Given the description of an element on the screen output the (x, y) to click on. 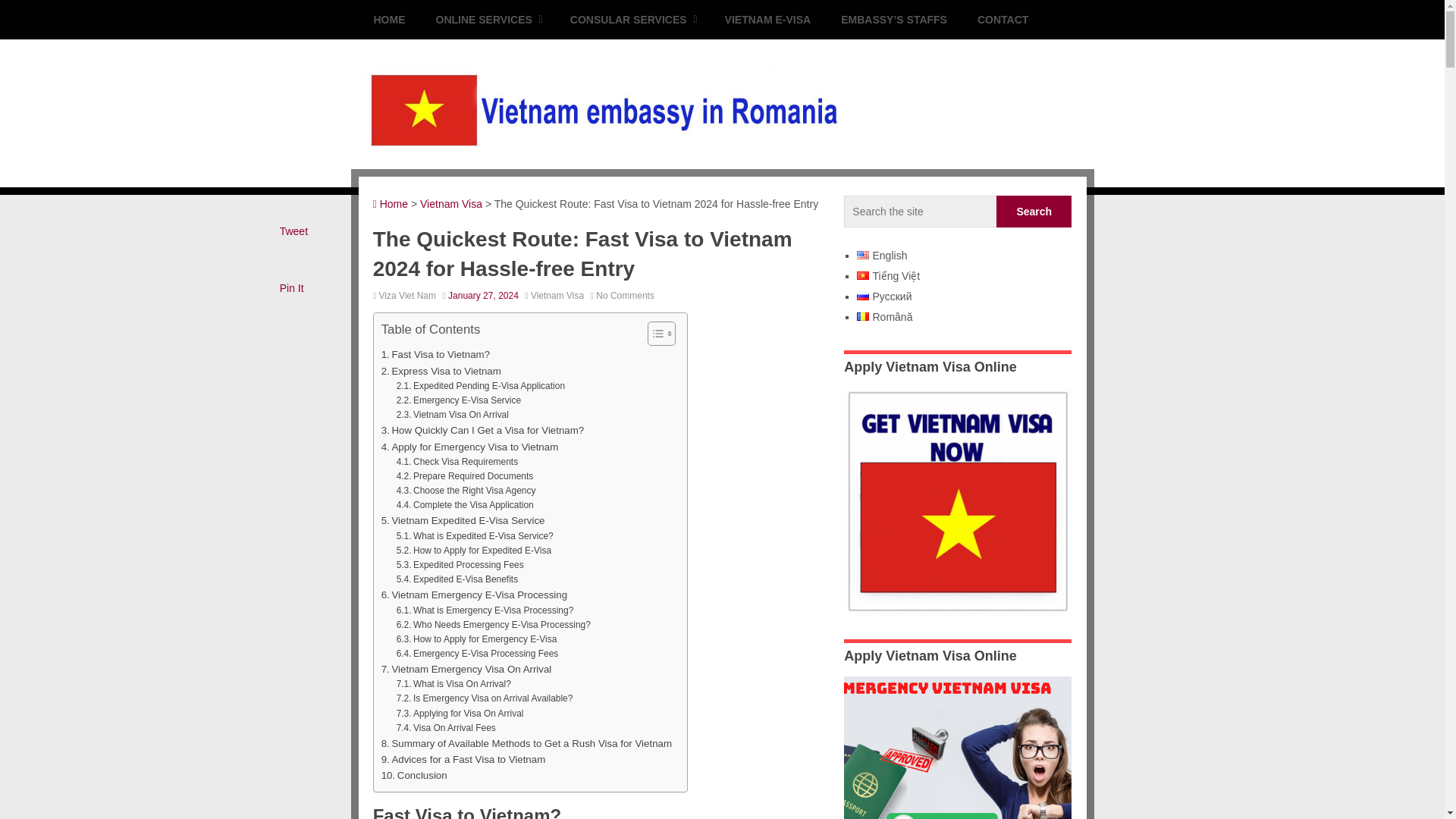
HOME (389, 19)
Prepare Required Documents (465, 476)
Vietnam Visa (557, 295)
Expedited Pending E-Visa Application (480, 386)
How Quickly Can I Get a Visa for Vietnam? (483, 430)
Fast Visa to Vietnam? (435, 354)
Expedited Pending E-Visa Application (480, 386)
How to Apply for Expedited E-Visa (473, 550)
No Comments (624, 295)
 Home (389, 203)
